Given the description of an element on the screen output the (x, y) to click on. 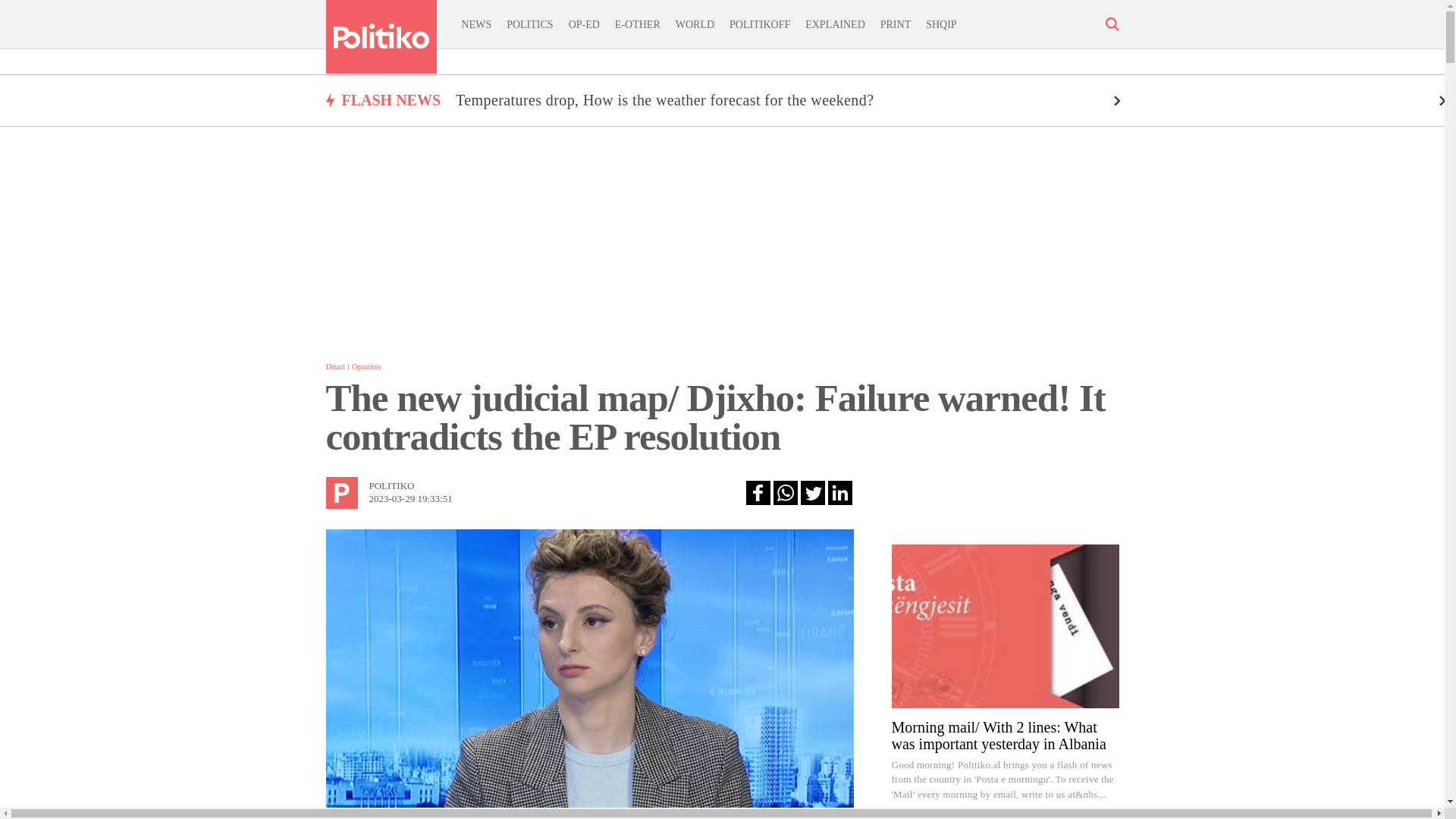
E-OTHER (637, 24)
LinkedIn (839, 492)
NEWS (476, 24)
PRINT (895, 24)
SHQIP (941, 24)
EXPLAINED (834, 24)
OP-ED (584, 24)
POLITIKOFF (759, 24)
POLITICS (529, 24)
WORLD (694, 24)
LinkedIn (839, 492)
